Given the description of an element on the screen output the (x, y) to click on. 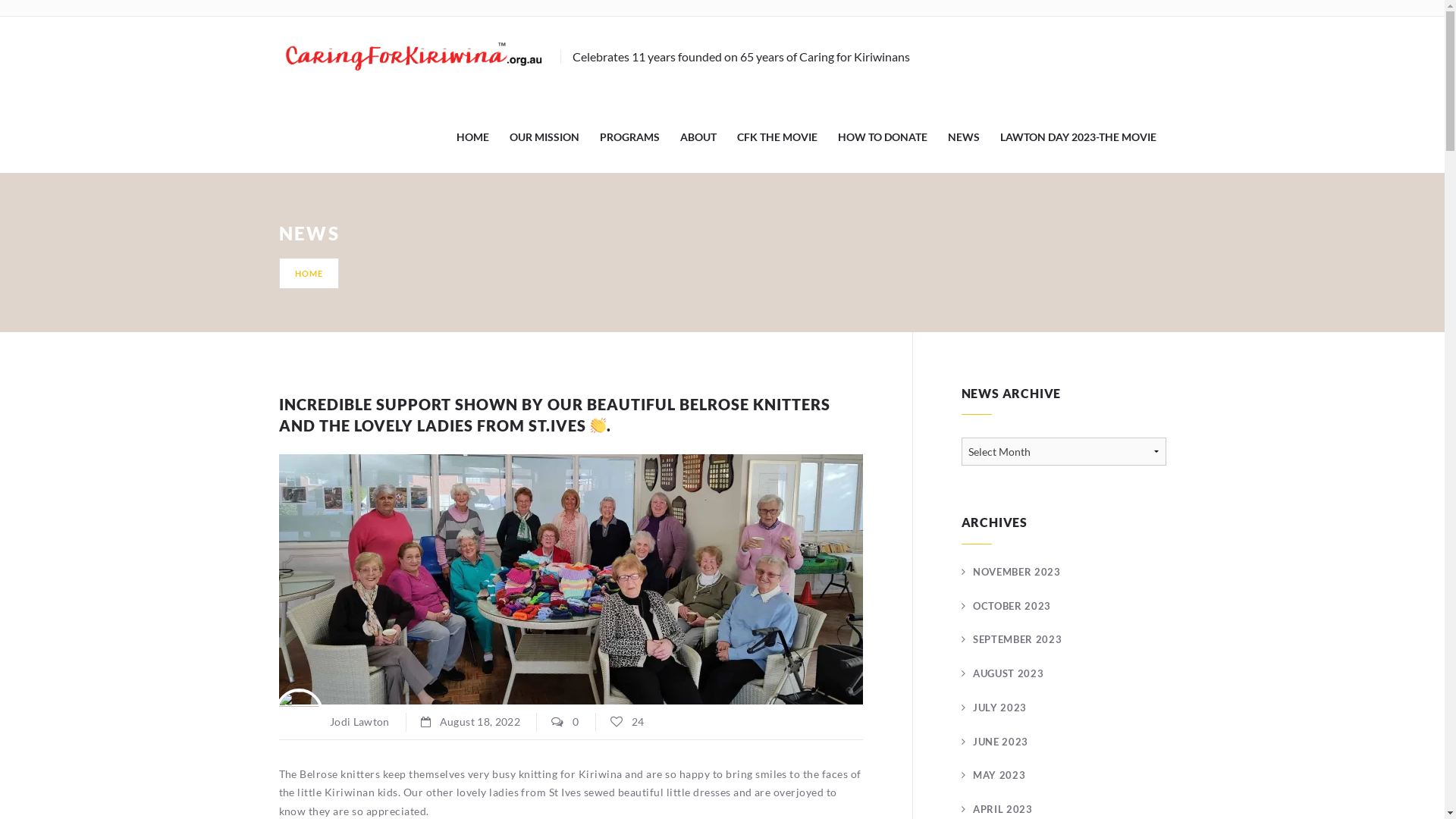
CFK THE MOVIE Element type: text (777, 137)
AUGUST 2023 Element type: text (1002, 673)
HOME Element type: text (308, 273)
NOVEMBER 2023 Element type: text (1010, 571)
PROGRAMS Element type: text (628, 137)
APRIL 2023 Element type: text (996, 809)
HOME Element type: text (472, 137)
NEWS Element type: text (963, 137)
SEPTEMBER 2023 Element type: text (1011, 639)
LAWTON DAY 2023-THE MOVIE Element type: text (1077, 137)
Jodi Lawton Element type: text (334, 721)
0 Element type: text (564, 721)
ABOUT Element type: text (697, 137)
JUNE 2023 Element type: text (995, 741)
OCTOBER 2023 Element type: text (1006, 605)
HOW TO DONATE Element type: text (881, 137)
OUR MISSION Element type: text (544, 137)
JULY 2023 Element type: text (994, 707)
MAY 2023 Element type: text (993, 774)
